Given the description of an element on the screen output the (x, y) to click on. 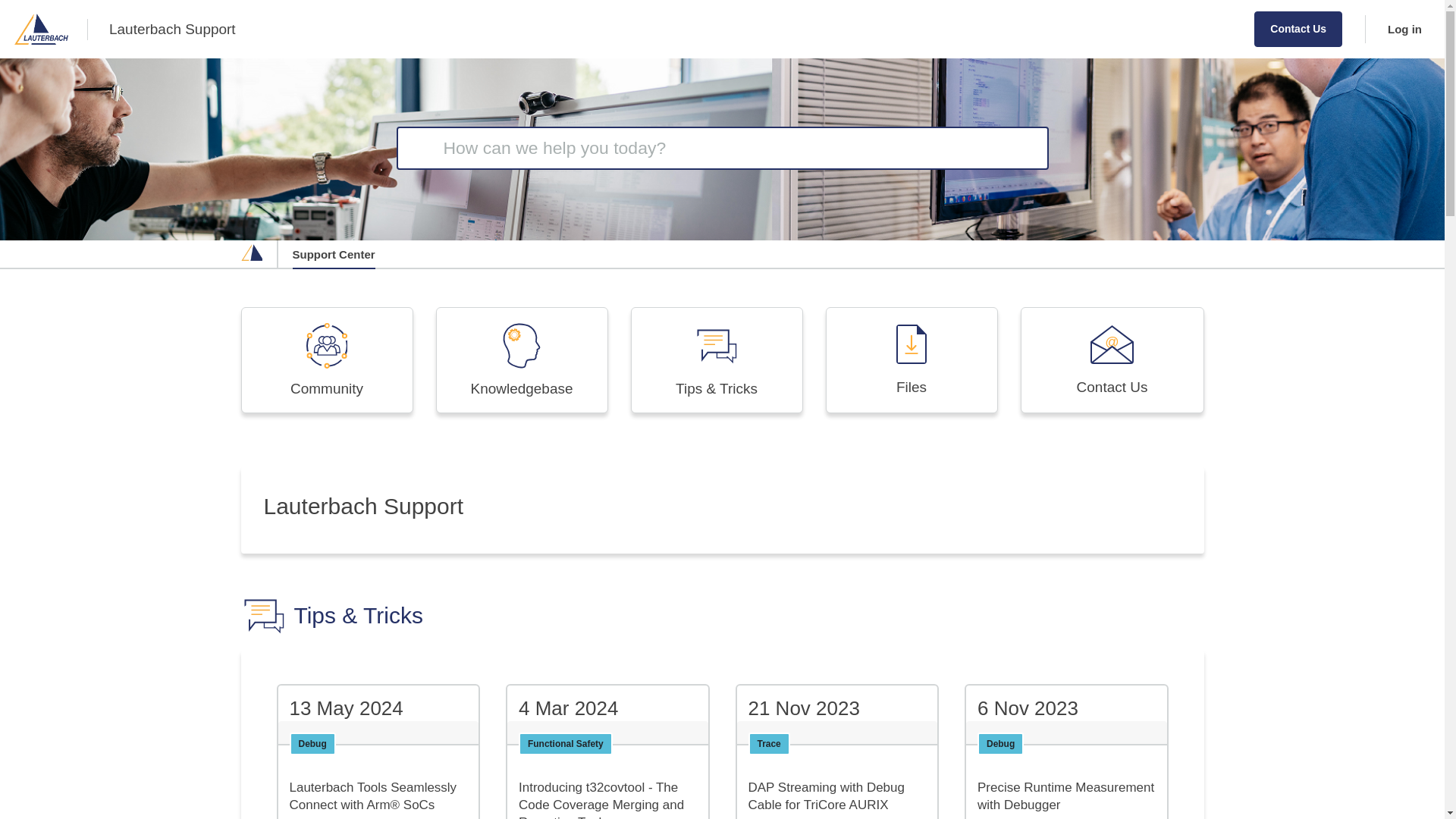
Files (911, 360)
Community (327, 360)
Contact Us (1297, 28)
Lauterbach Support (172, 29)
Support Center (333, 254)
Log in (1398, 29)
Knowledgebase (521, 360)
